Given the description of an element on the screen output the (x, y) to click on. 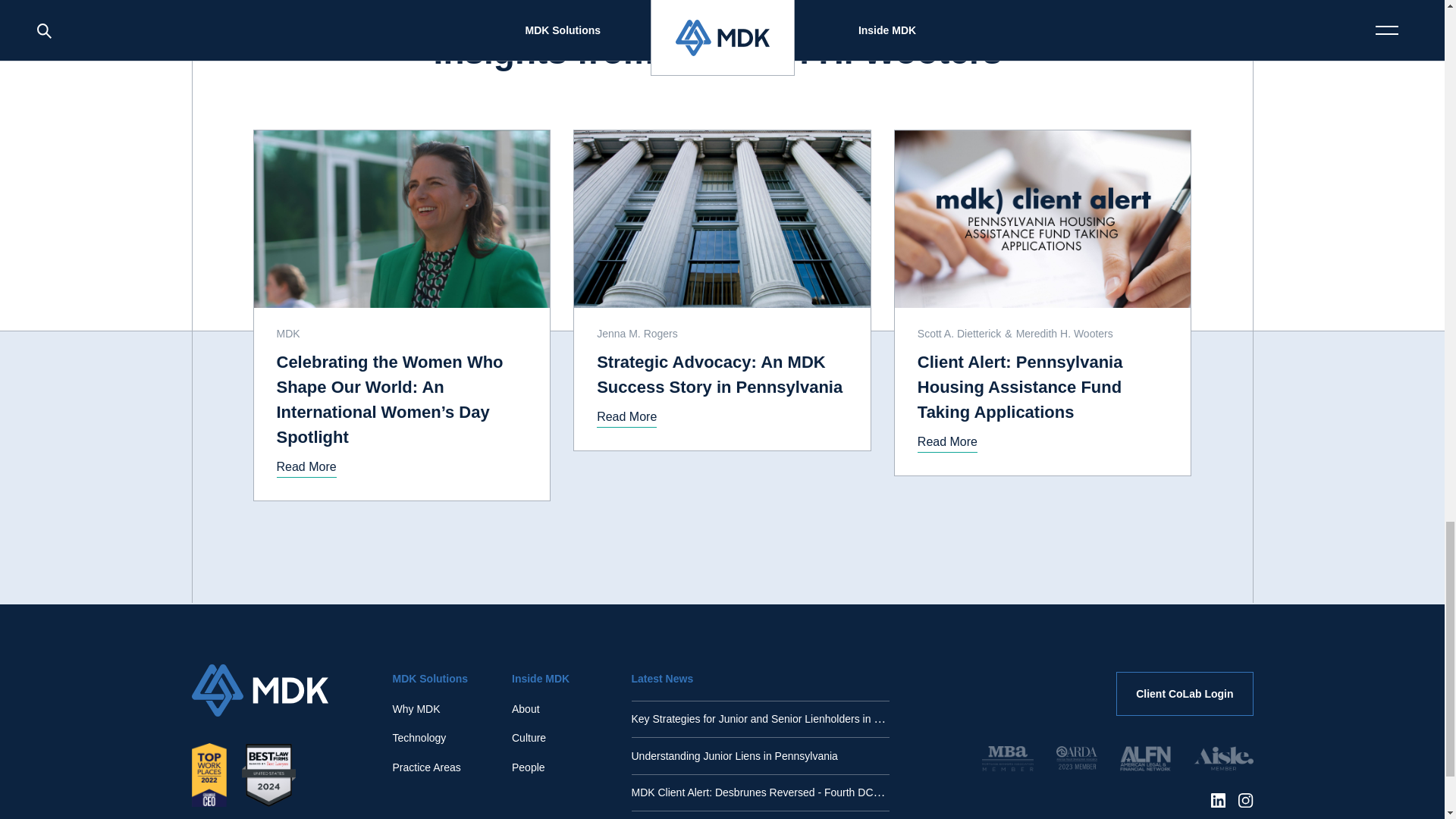
MDK (289, 333)
Jenna M. Rogers (638, 333)
Technology (419, 737)
Strategic Advocacy: An MDK Success Story in Pennsylvania (721, 374)
Read More (306, 467)
Read More (626, 417)
Why MDK (417, 709)
Read More (946, 442)
